Given the description of an element on the screen output the (x, y) to click on. 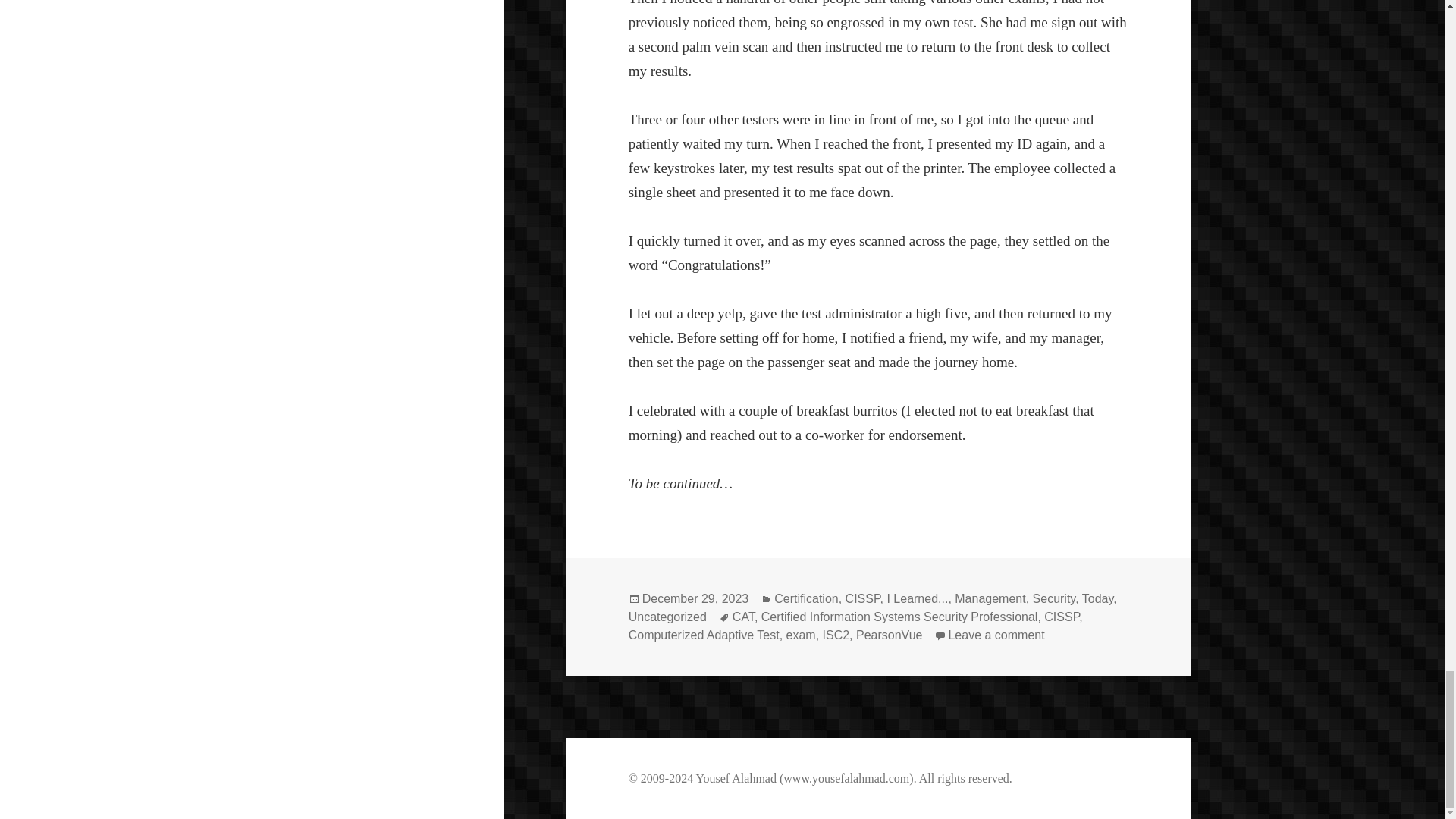
exam (800, 635)
CISSP (1060, 617)
Today (1097, 599)
Computerized Adaptive Test (703, 635)
Management (990, 599)
PearsonVue (888, 635)
ISC2 (836, 635)
Certified Information Systems Security Professional (995, 635)
CISSP (899, 617)
I Learned... (862, 599)
Security (916, 599)
Uncategorized (1053, 599)
Certification (667, 617)
CAT (806, 599)
